Given the description of an element on the screen output the (x, y) to click on. 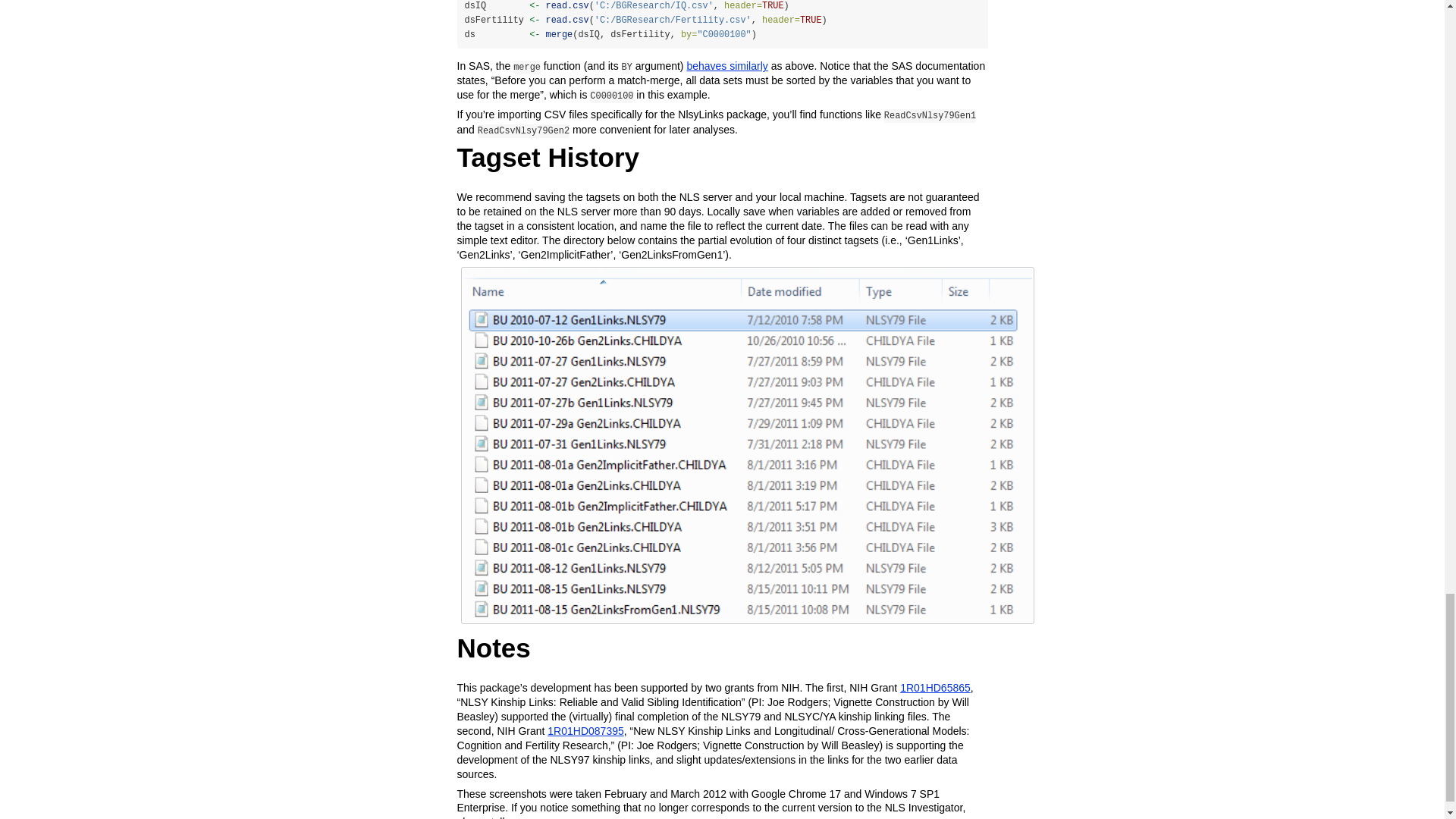
1R01HD087395 (585, 730)
